Given the description of an element on the screen output the (x, y) to click on. 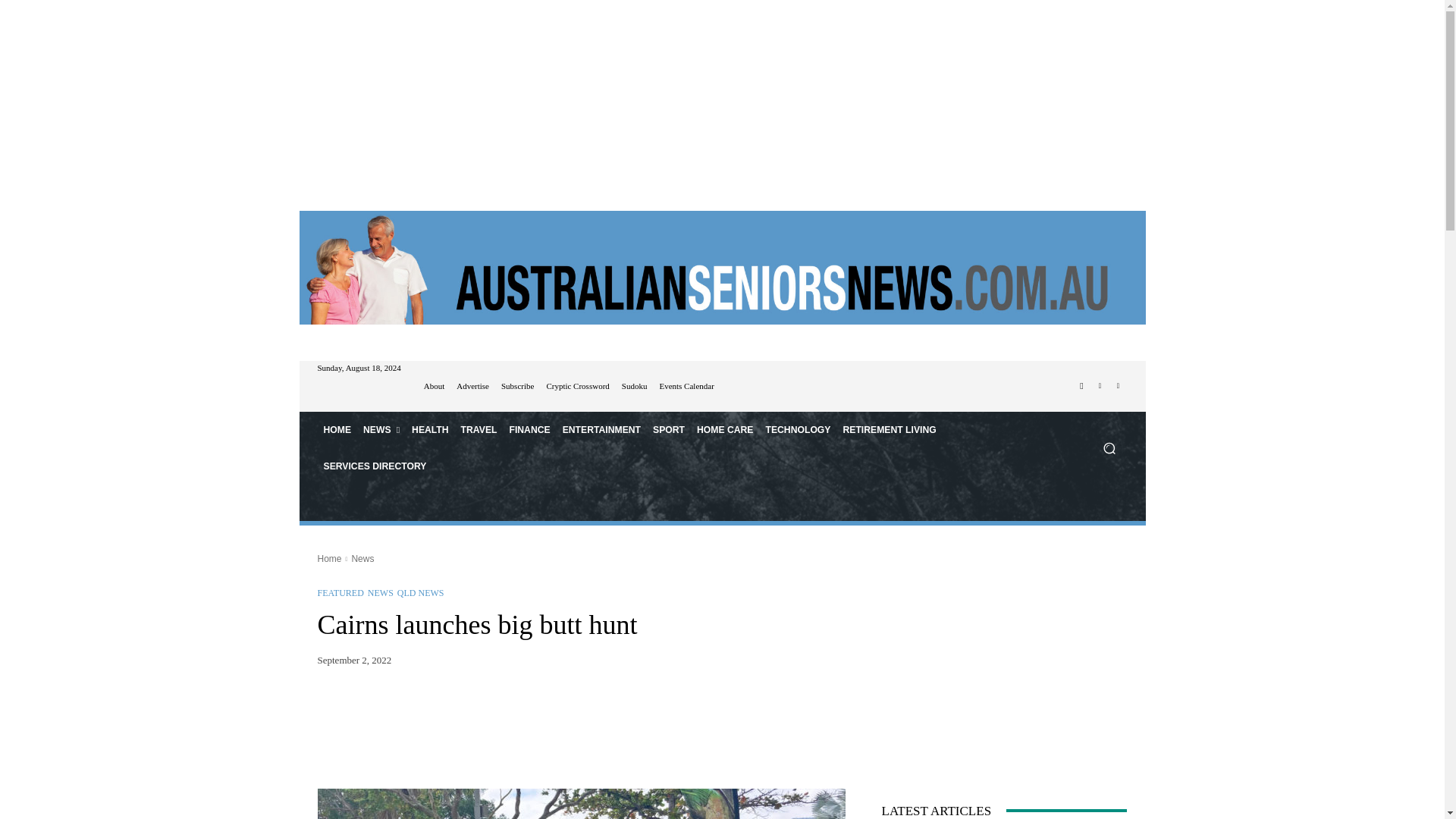
Cryptic Crossword (577, 386)
Advertise (473, 386)
Facebook (1080, 385)
About (434, 386)
Linkedin (1099, 385)
Screen Shot 2022-09-02 at 10.19.32 am (580, 803)
Sudoku (634, 386)
Events Calendar (686, 386)
Twitter (1117, 385)
